Given the description of an element on the screen output the (x, y) to click on. 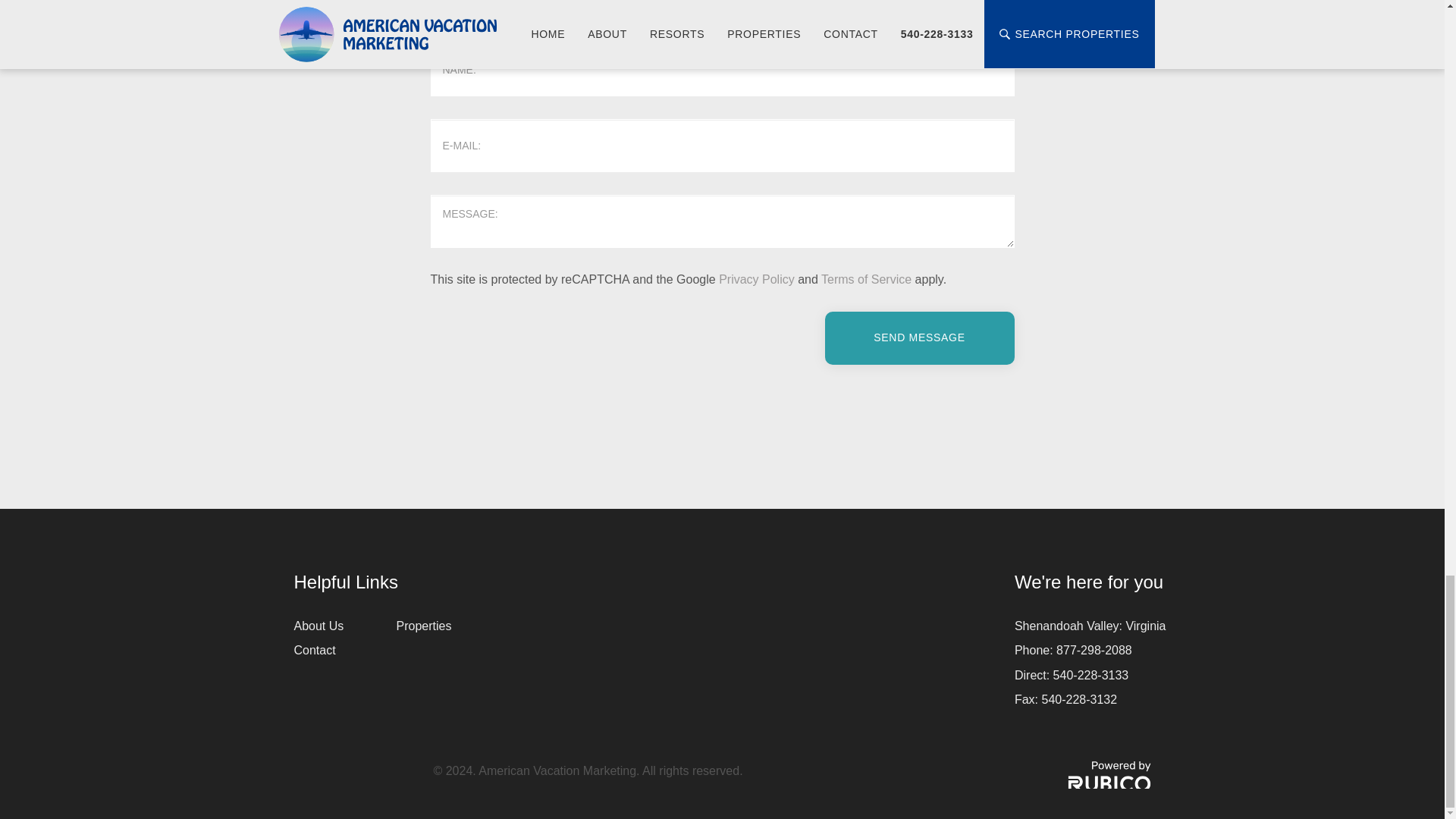
SEND MESSAGE (919, 338)
